Given the description of an element on the screen output the (x, y) to click on. 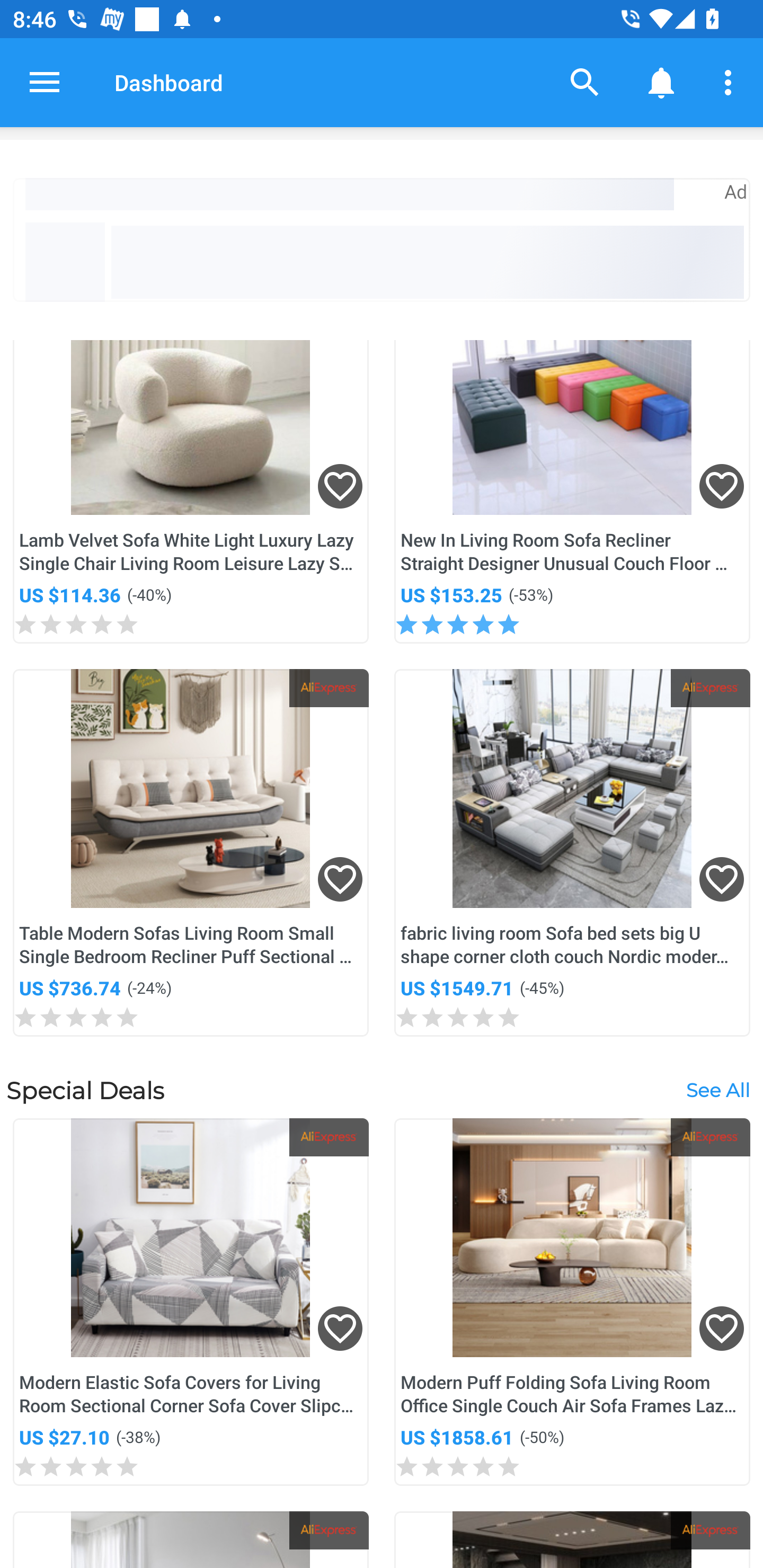
Open navigation drawer (44, 82)
Search (585, 81)
More options (731, 81)
See All (717, 1089)
